Given the description of an element on the screen output the (x, y) to click on. 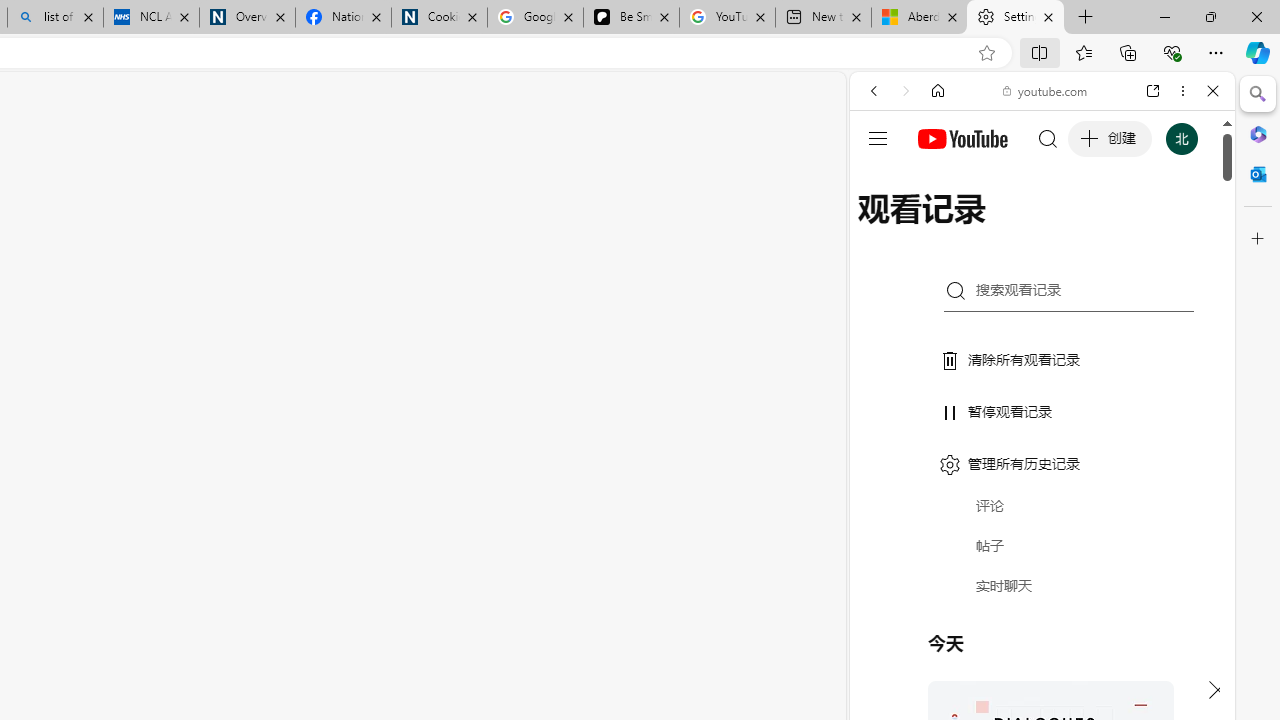
Aberdeen, Hong Kong SAR hourly forecast | Microsoft Weather (918, 17)
Search Filter, WEB (882, 228)
Global web icon (888, 288)
Search the web (1051, 137)
Class: b_serphb (1190, 229)
SEARCH TOOLS (1093, 228)
youtube.com (1046, 90)
Search Filter, VIDEOS (1006, 228)
